Given the description of an element on the screen output the (x, y) to click on. 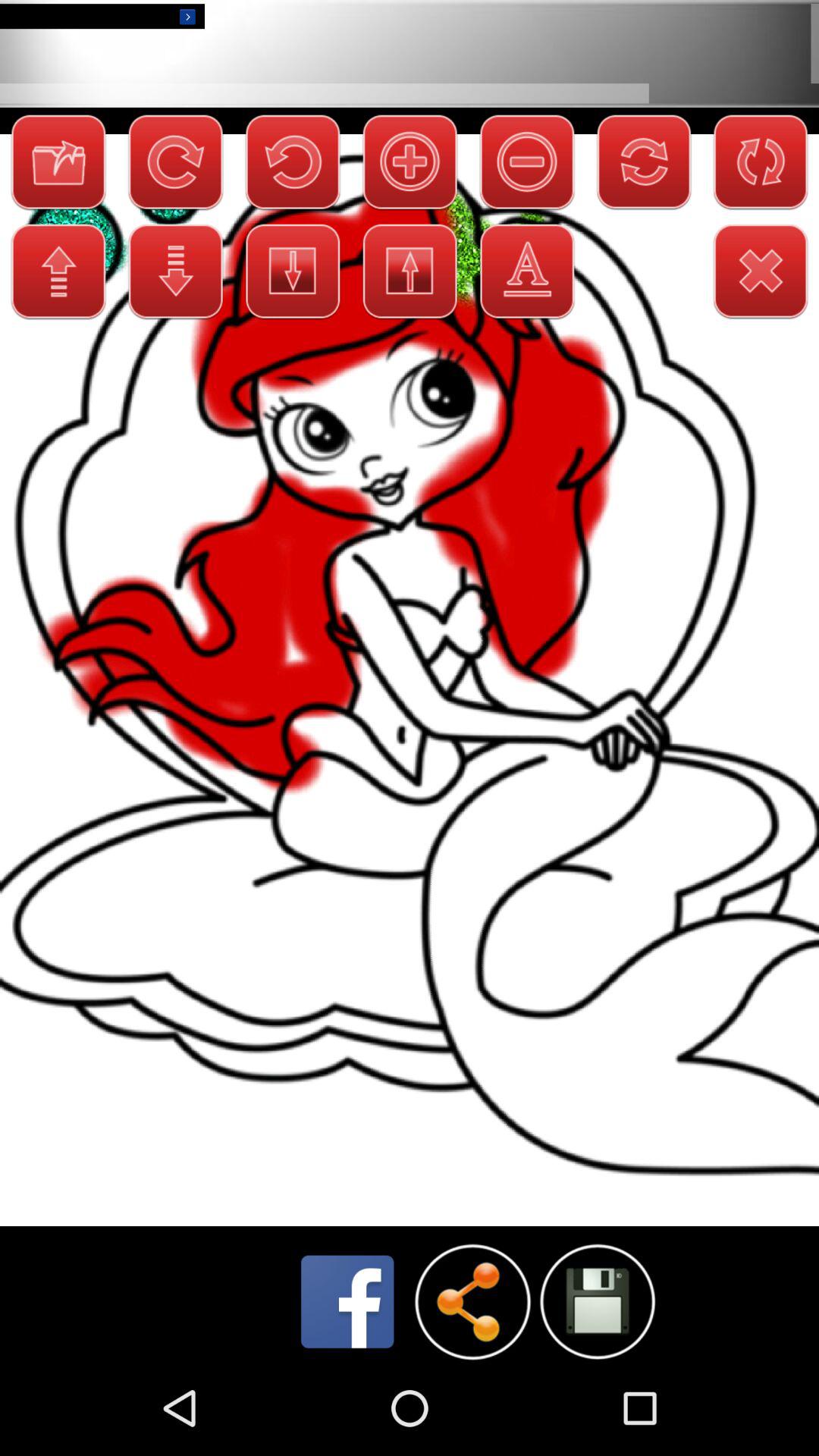
save (597, 1301)
